Given the description of an element on the screen output the (x, y) to click on. 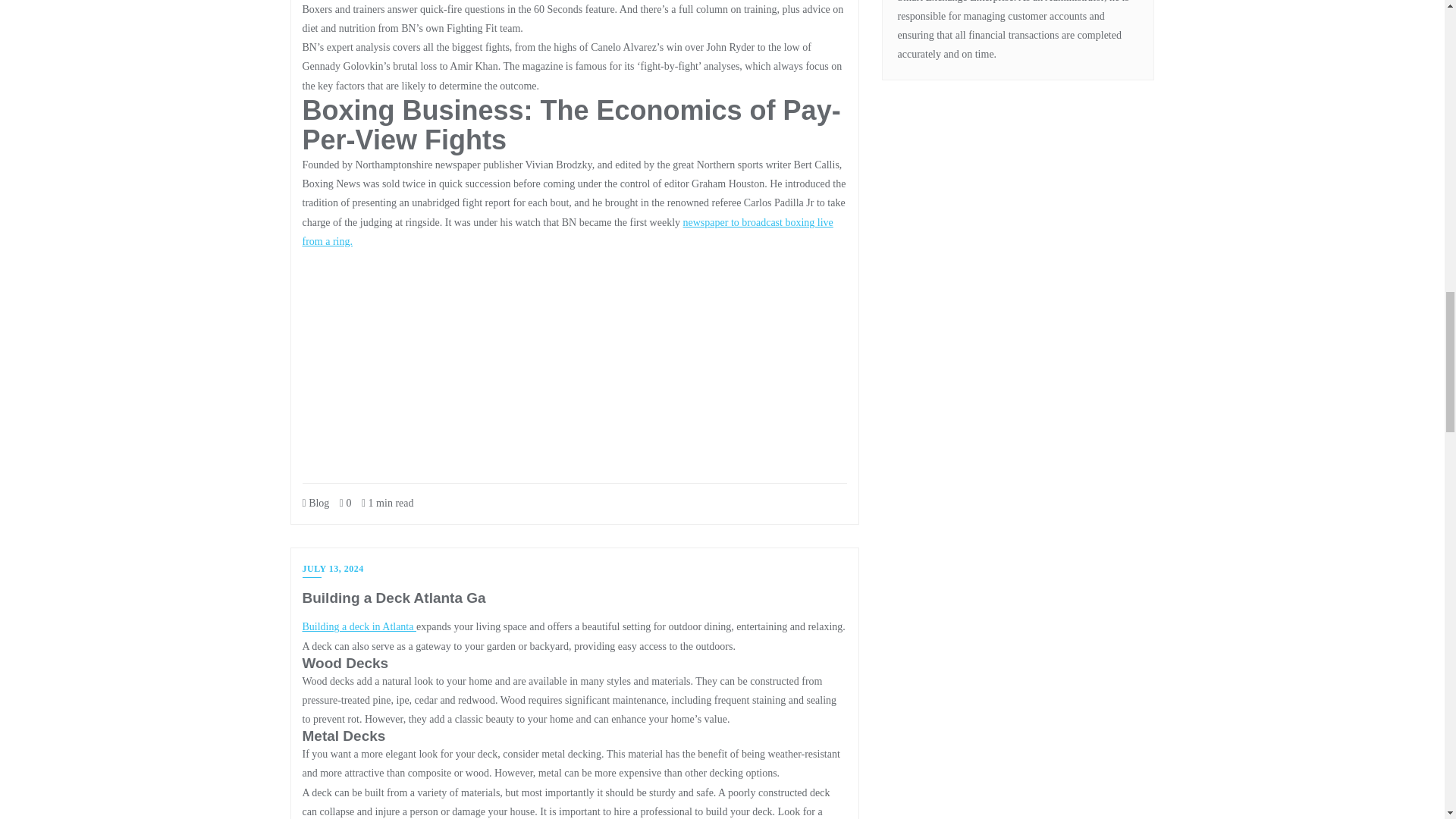
JULY 13, 2024 (331, 570)
Building a Deck Atlanta Ga (392, 597)
Blog (315, 502)
0 (345, 502)
Building a deck in Atlanta (357, 626)
newspaper to broadcast boxing live from a ring. (566, 232)
